Given the description of an element on the screen output the (x, y) to click on. 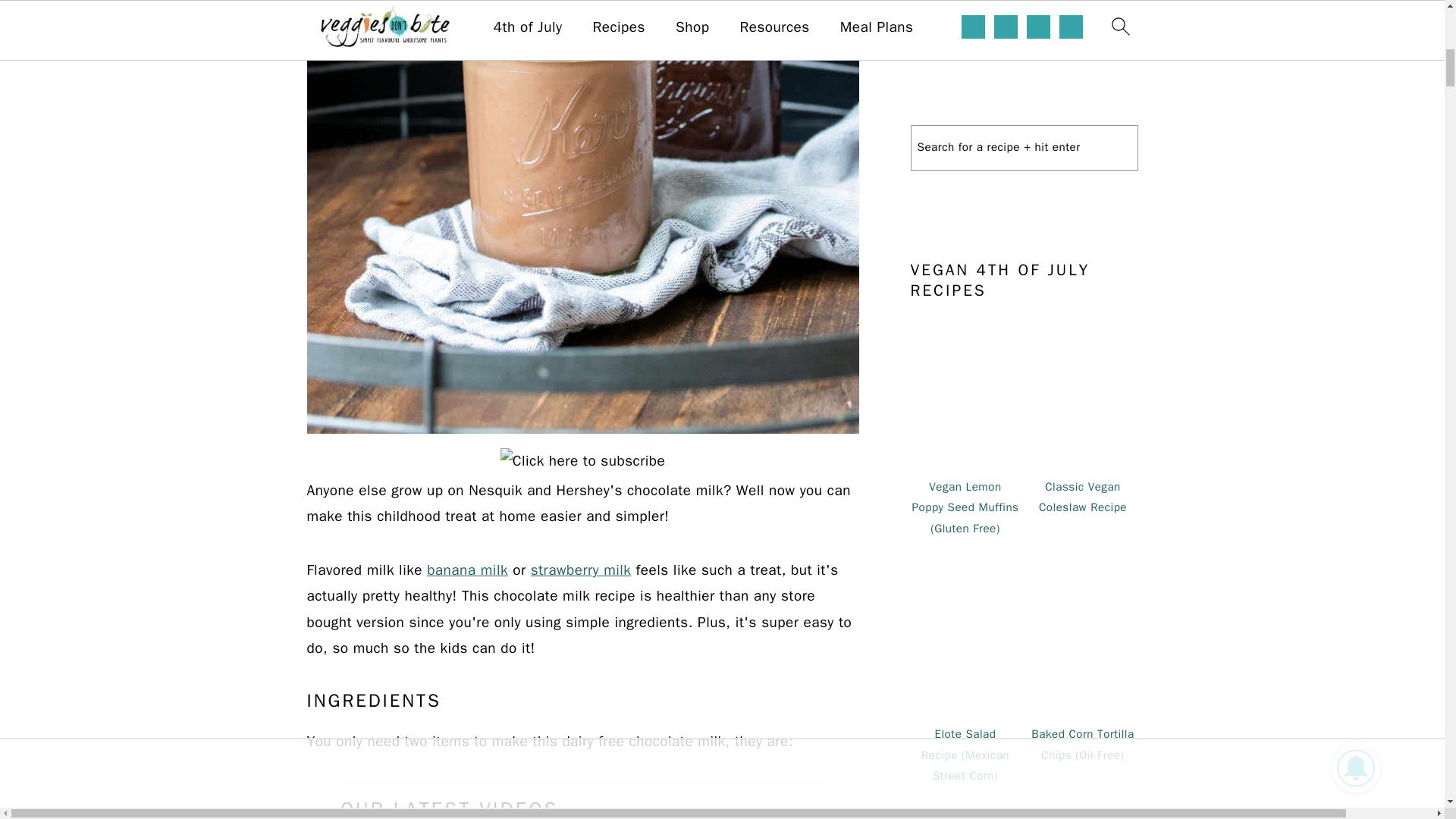
banana milk (467, 570)
strawberry milk (581, 570)
